Given the description of an element on the screen output the (x, y) to click on. 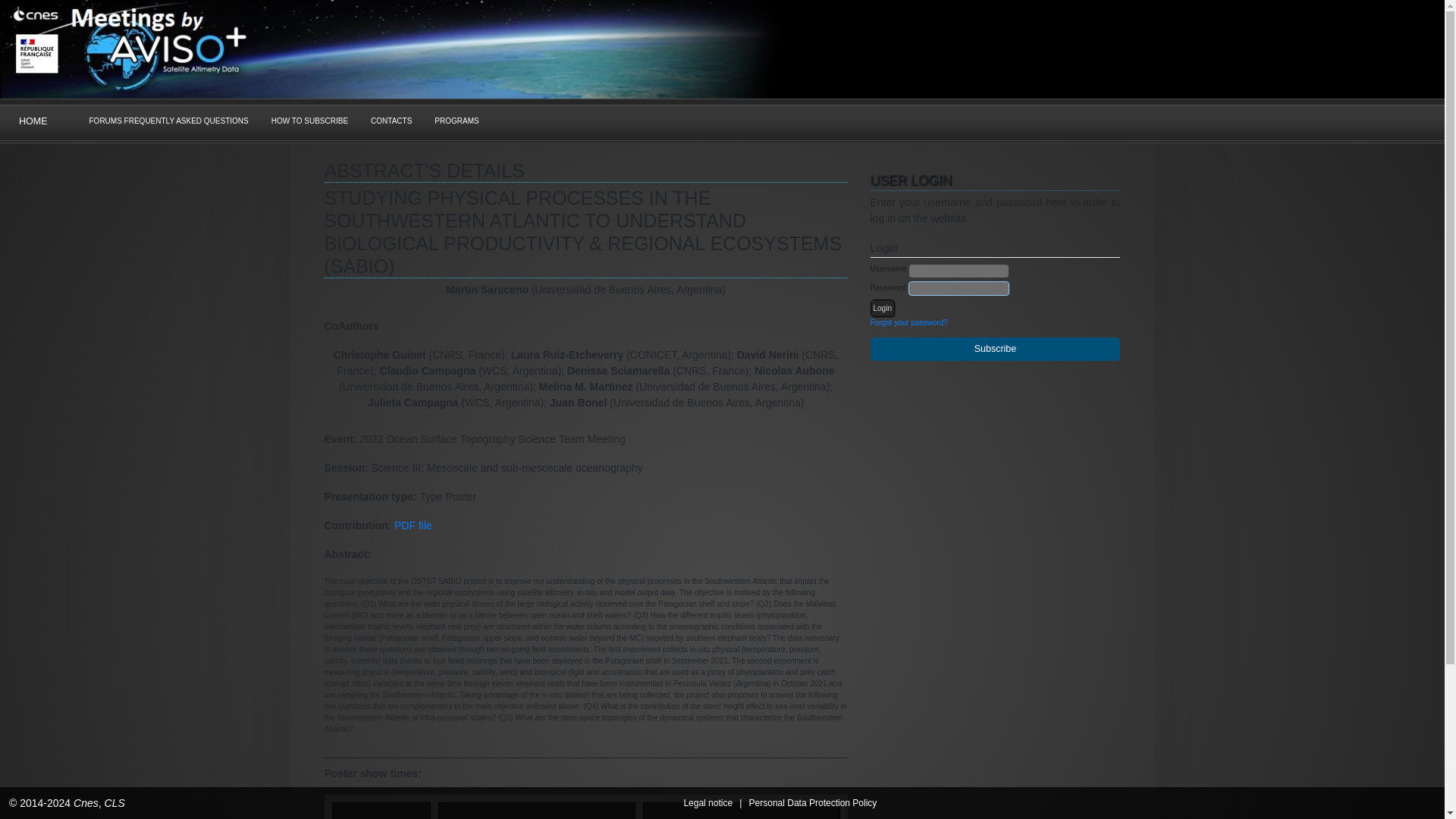
HOW TO SUBSCRIBE (309, 121)
Forgot your password? (908, 322)
PDF file (413, 525)
FORUMS FREQUENTLY ASKED QUESTIONS (168, 121)
Legal notice (707, 802)
Centre National d'Etudes Spatiales (86, 802)
PROGRAMS (456, 121)
CLS (114, 802)
Personal Data Protection Policy (813, 802)
CONTACTS (391, 121)
Cnes (86, 802)
Login (882, 307)
Login (882, 307)
Collecte Localisation Satellites (114, 802)
HOME (33, 121)
